Given the description of an element on the screen output the (x, y) to click on. 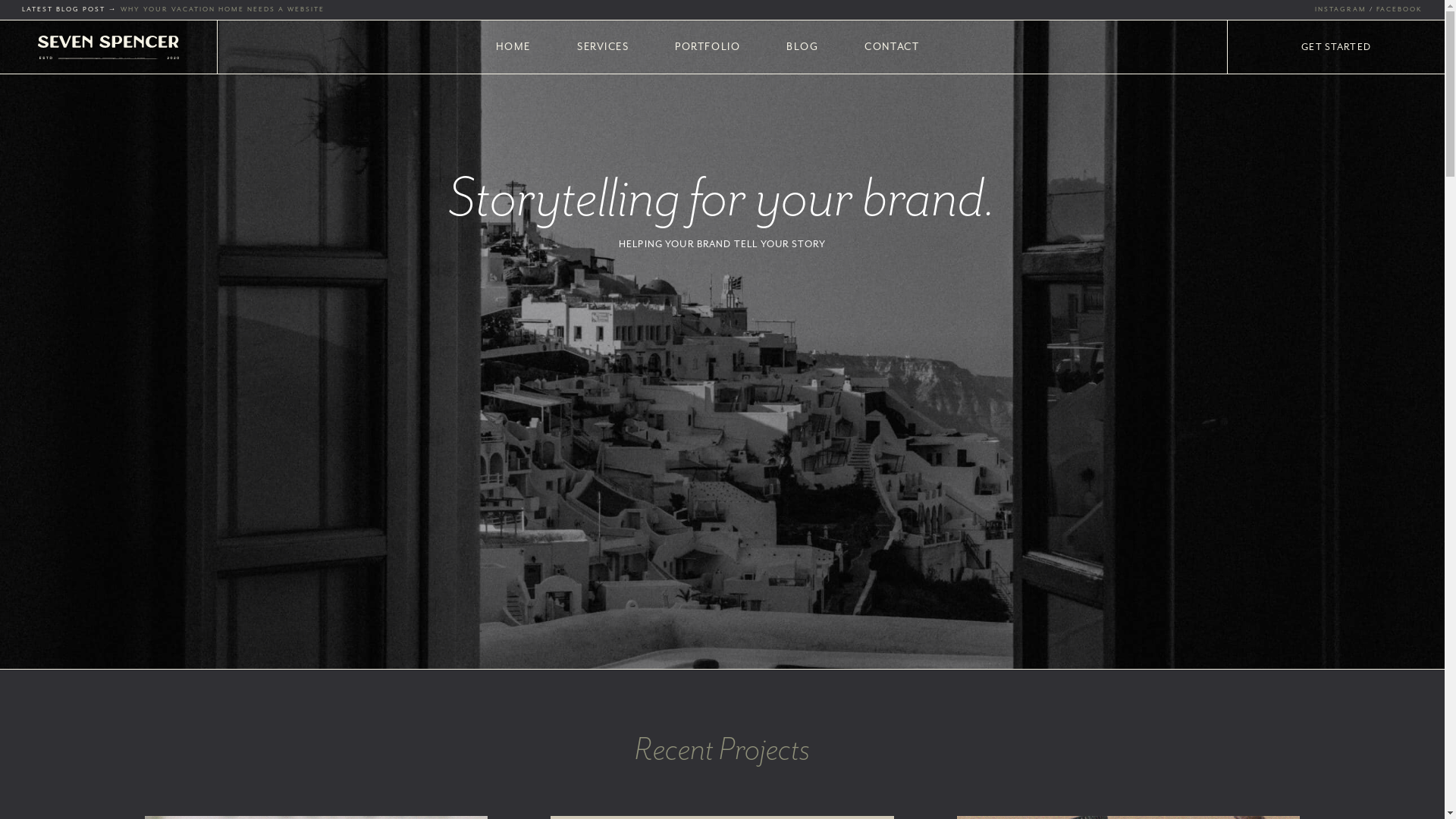
GET STARTED Element type: text (1336, 46)
WHY YOUR VACATION HOME NEEDS A WEBSITE Element type: text (222, 9)
HOME Element type: text (512, 49)
SERVICES Element type: text (602, 49)
Asset 16 Element type: hover (107, 47)
PORTFOLIO Element type: text (707, 49)
CONTACT Element type: text (891, 49)
BLOG Element type: text (802, 49)
INSTAGRAM Element type: text (1340, 9)
FACEBOOK Element type: text (1399, 9)
